Given the description of an element on the screen output the (x, y) to click on. 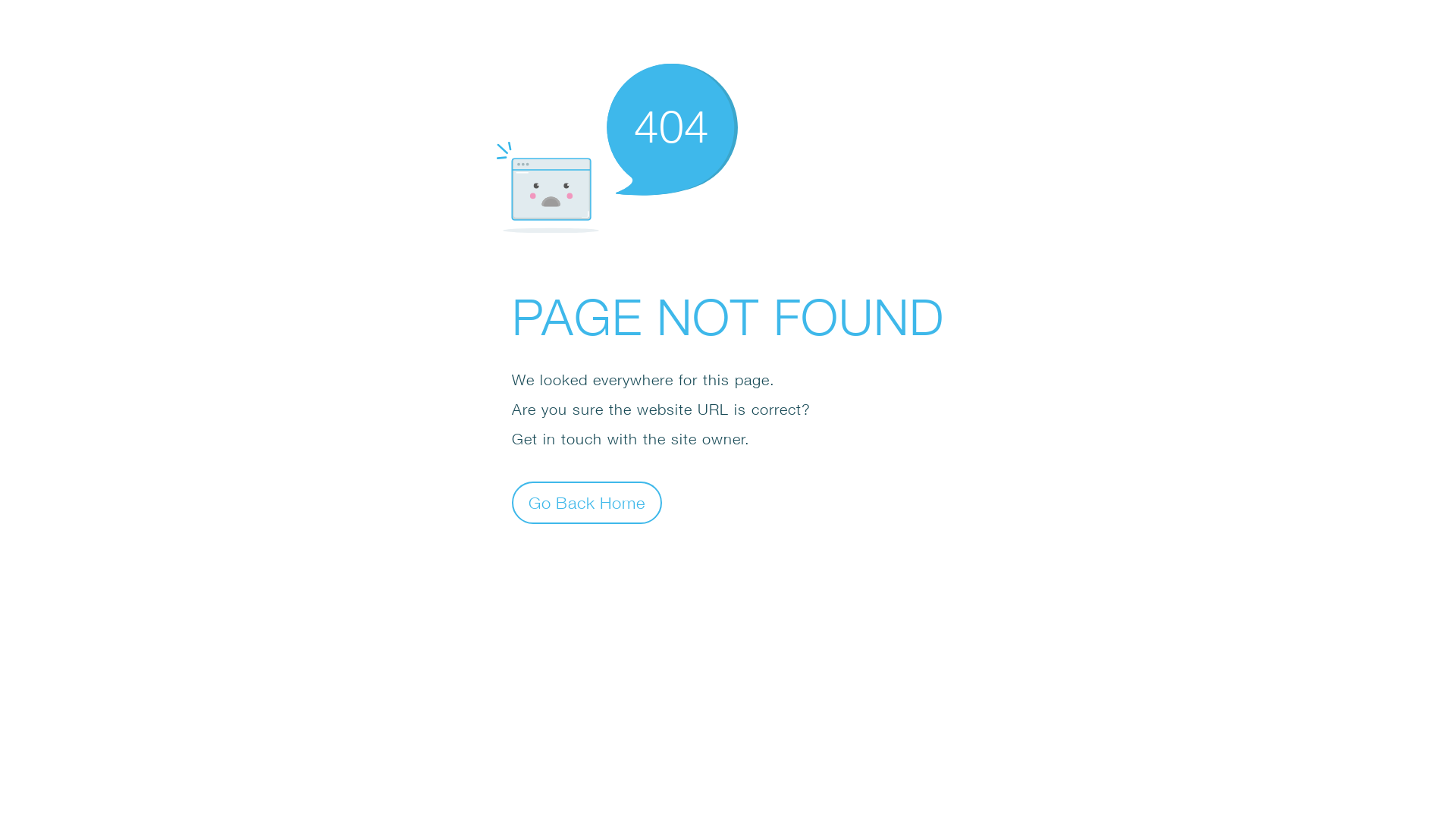
Go Back Home Element type: text (586, 502)
